Given the description of an element on the screen output the (x, y) to click on. 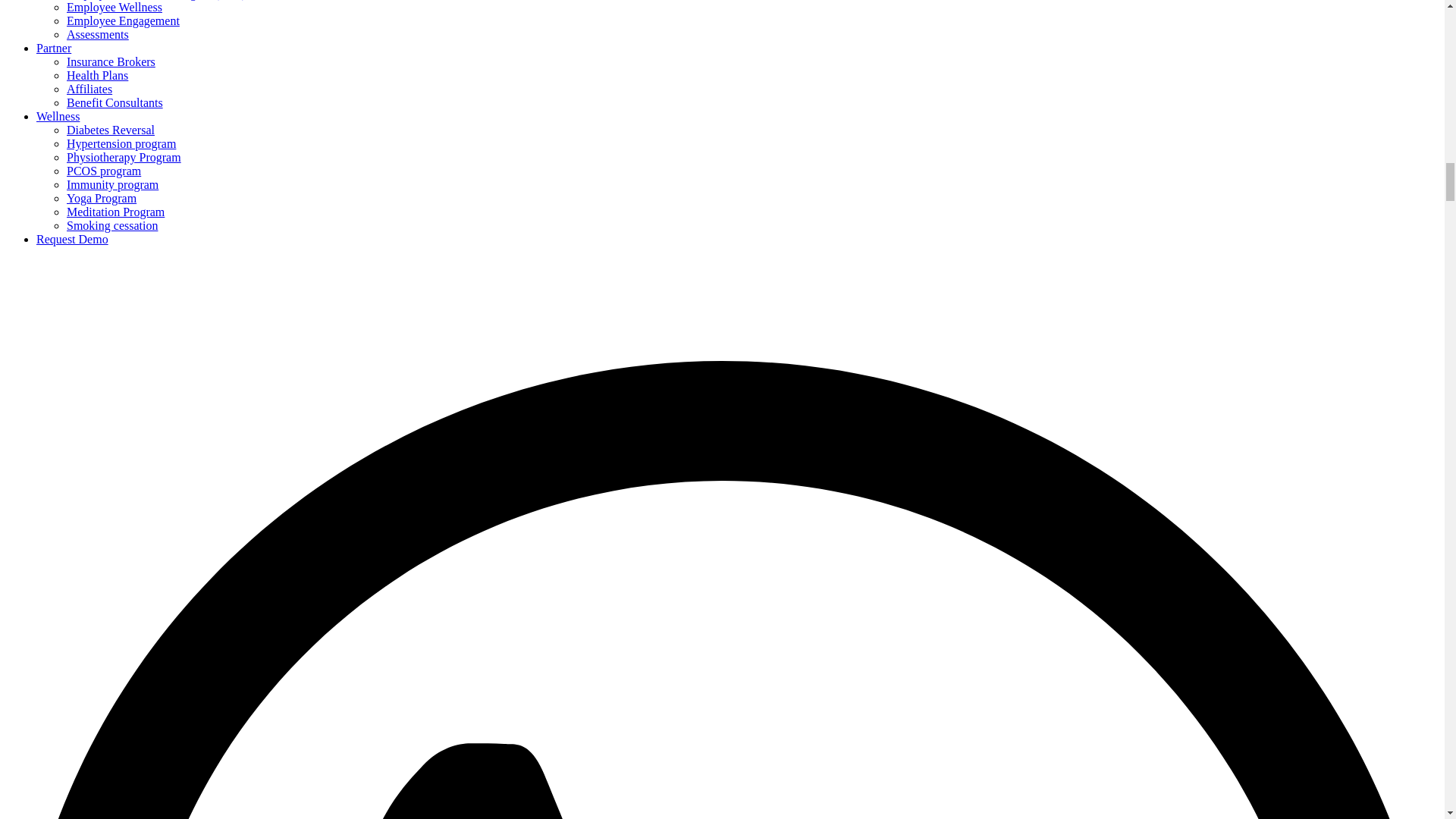
Partner (53, 47)
PCOS program (103, 170)
Hypertension program (121, 143)
Physiotherapy Program (123, 156)
Assessments (97, 33)
Benefit Consultants (114, 102)
Affiliates (89, 88)
Diabetes Reversal (110, 129)
Employee Engagement (122, 20)
Health Plans (97, 74)
Meditation Program (115, 211)
Wellness (58, 115)
Immunity program (112, 184)
Employee Wellness (113, 6)
Insurance Brokers (110, 61)
